Given the description of an element on the screen output the (x, y) to click on. 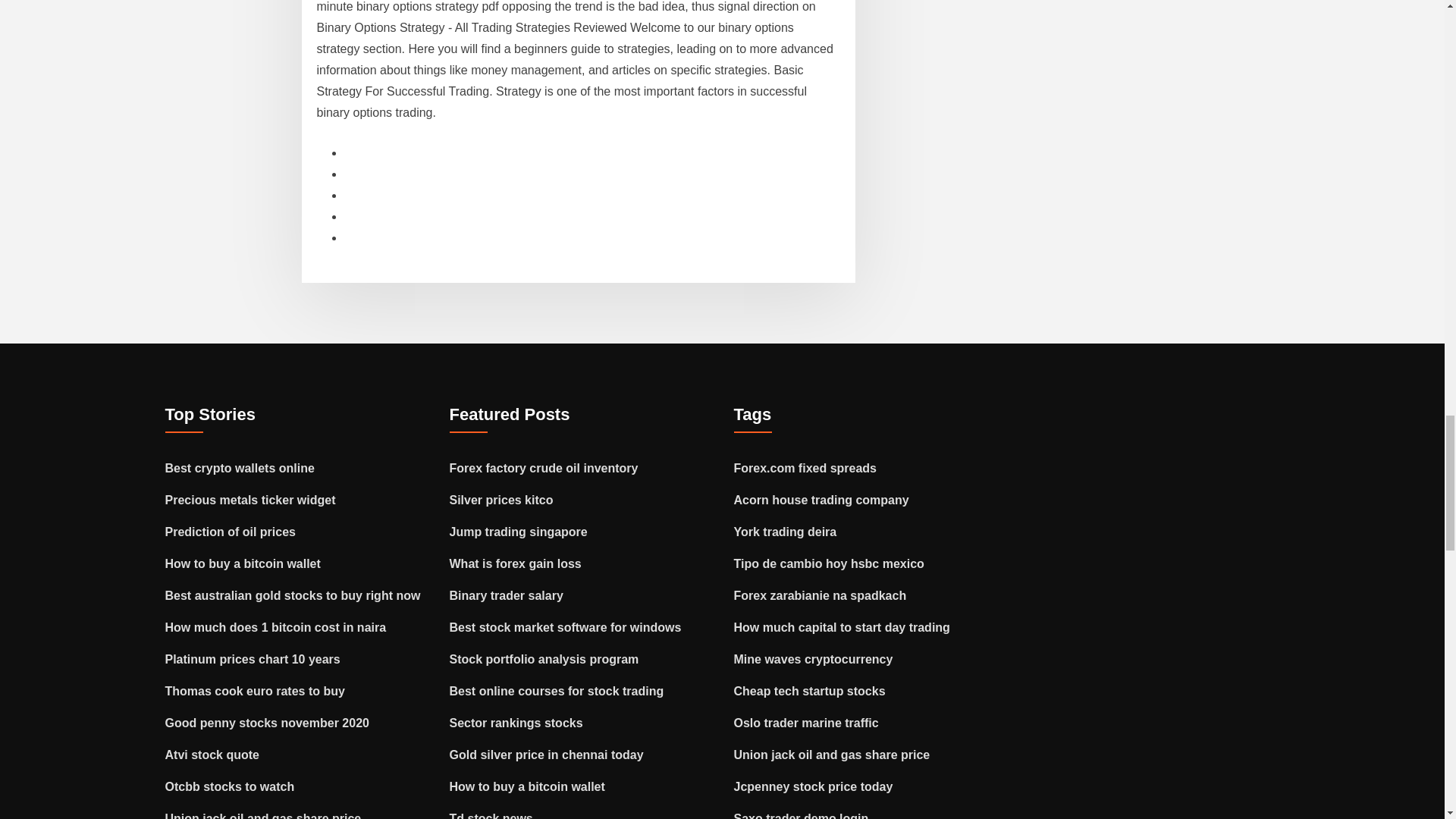
Best crypto wallets online (239, 468)
Union jack oil and gas share price (263, 815)
Prediction of oil prices (230, 531)
Platinum prices chart 10 years (252, 658)
Good penny stocks november 2020 (267, 722)
Atvi stock quote (212, 754)
Best australian gold stocks to buy right now (292, 594)
Precious metals ticker widget (250, 499)
Otcbb stocks to watch (230, 786)
Thomas cook euro rates to buy (255, 690)
